Given the description of an element on the screen output the (x, y) to click on. 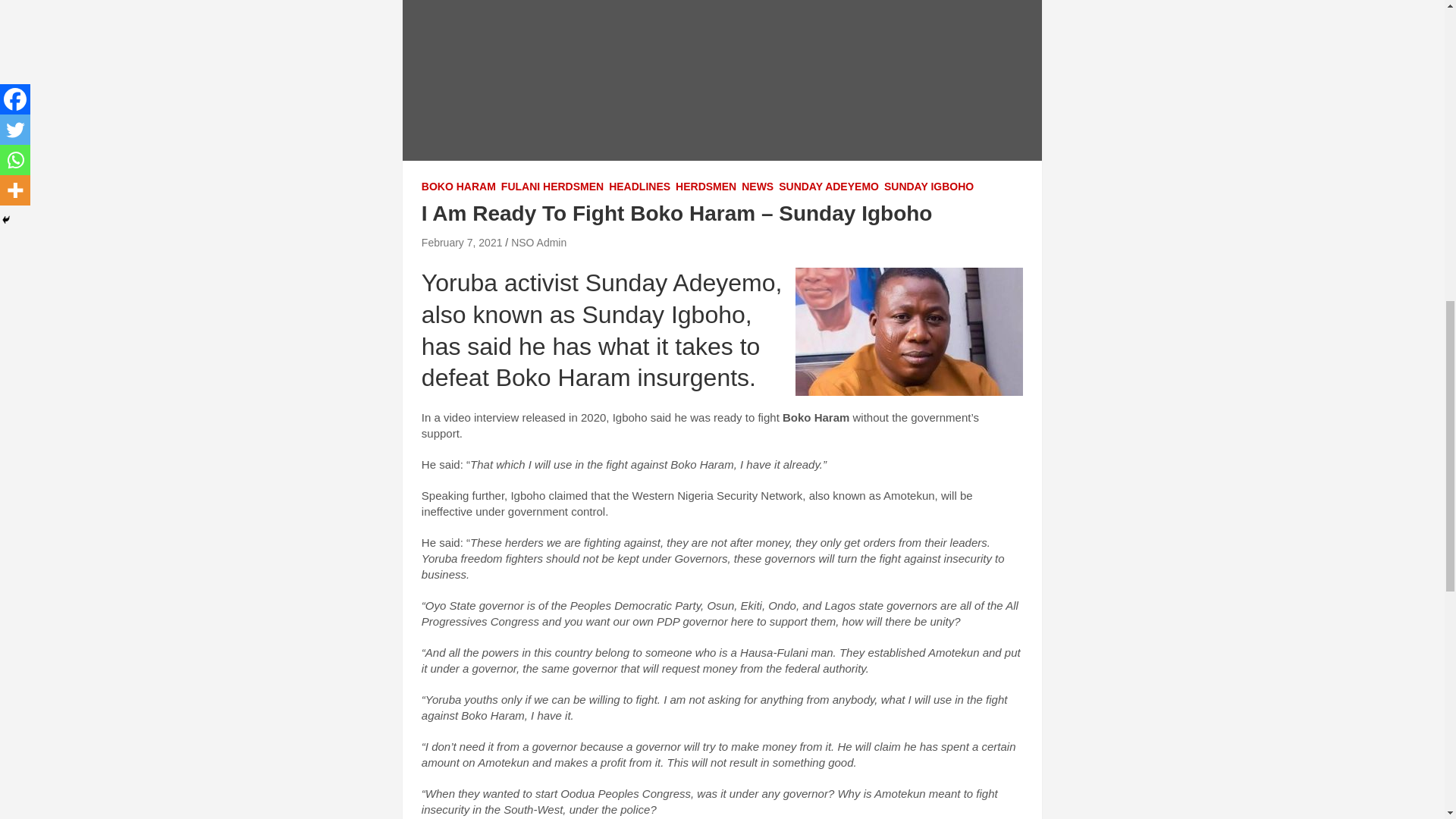
February 7, 2021 (462, 242)
HEADLINES (638, 186)
NSO Admin (538, 242)
SUNDAY IGBOHO (928, 186)
BOKO HARAM (459, 186)
NEWS (757, 186)
HERDSMEN (705, 186)
SUNDAY ADEYEMO (828, 186)
FULANI HERDSMEN (552, 186)
